Given the description of an element on the screen output the (x, y) to click on. 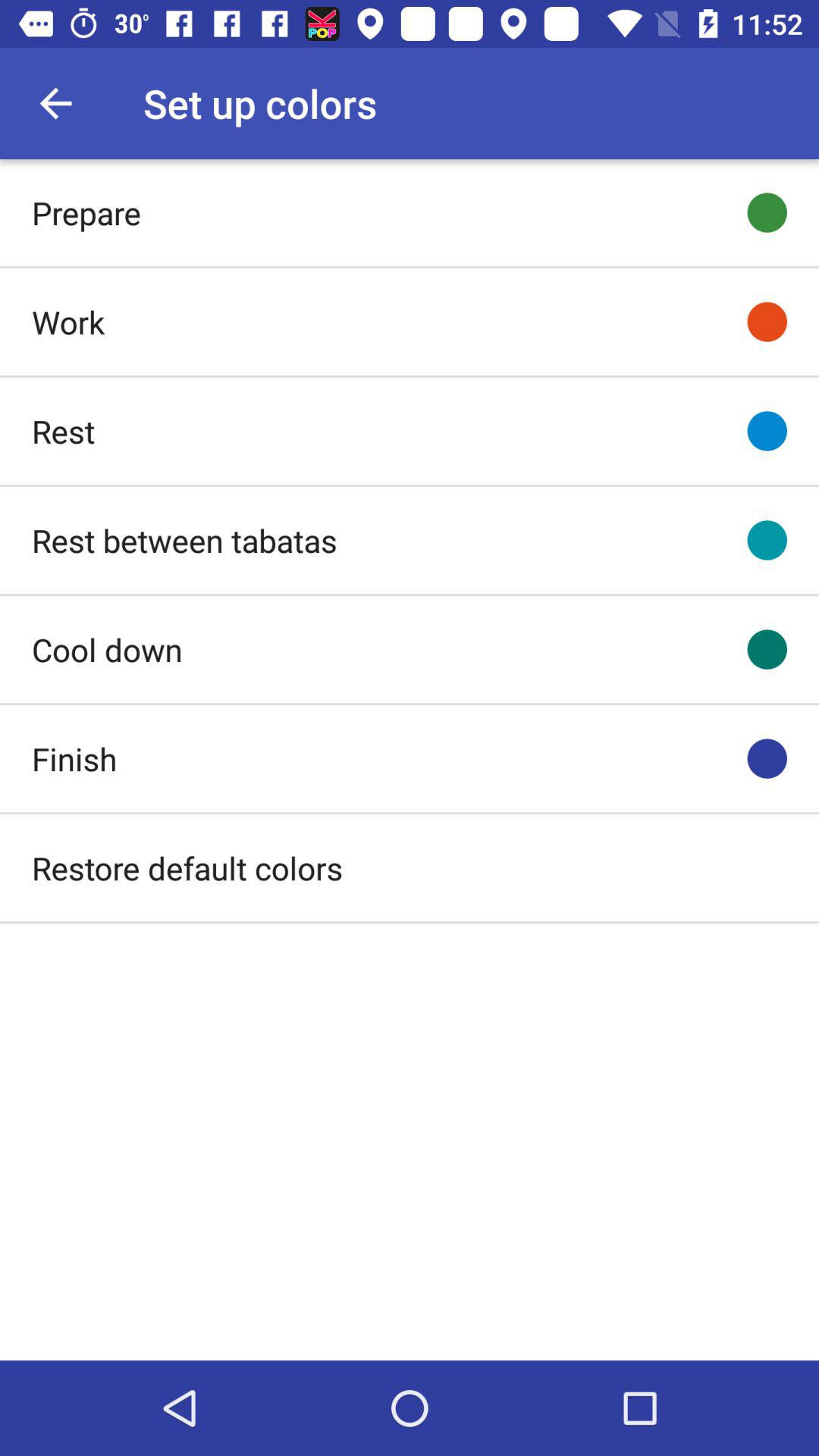
click the icon right to cool down (767, 648)
click on first green colored button (767, 212)
click on the fourth circle from the top right of the page (767, 539)
